Given the description of an element on the screen output the (x, y) to click on. 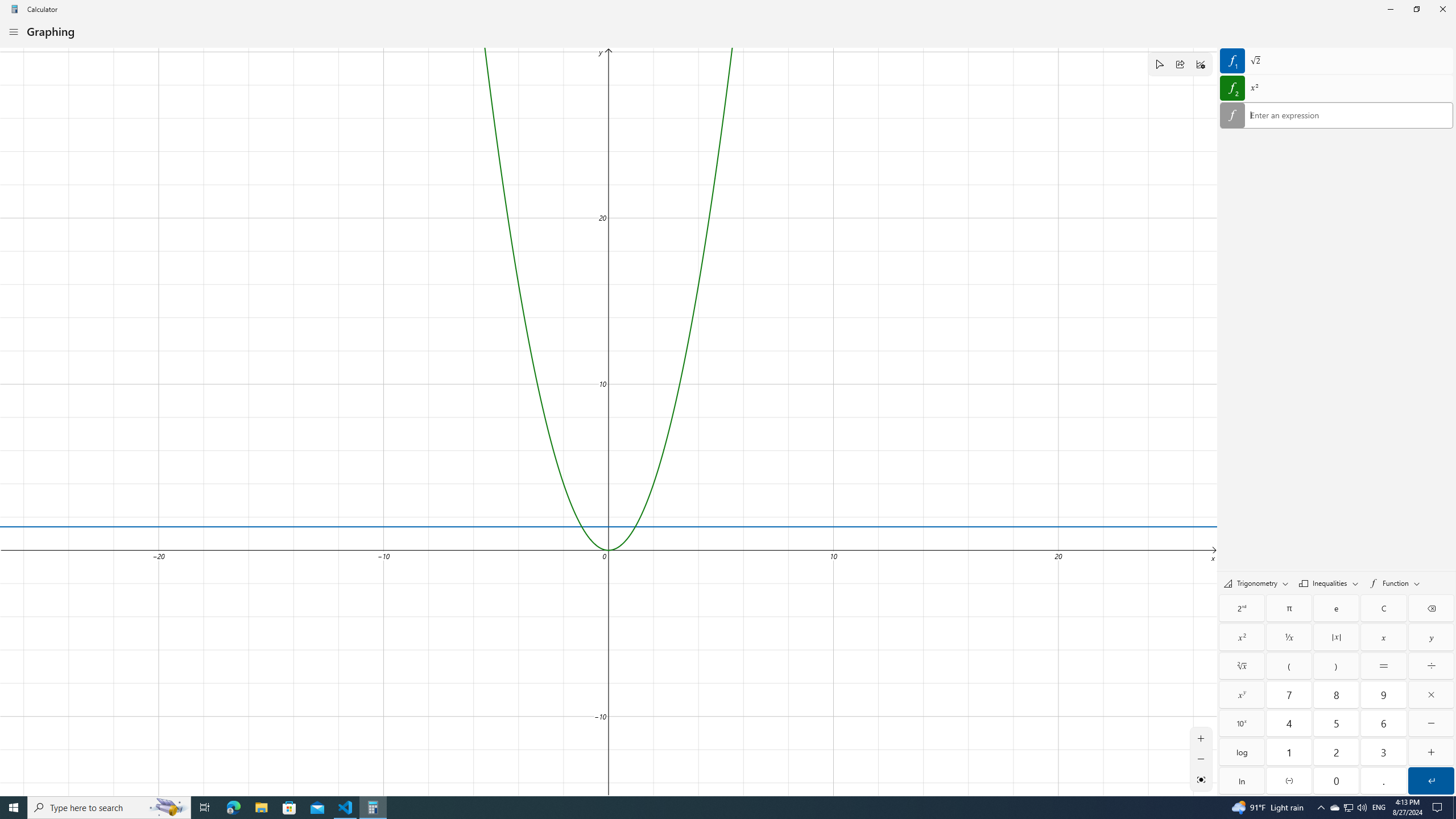
Minimize Calculator (1390, 9)
